Given the description of an element on the screen output the (x, y) to click on. 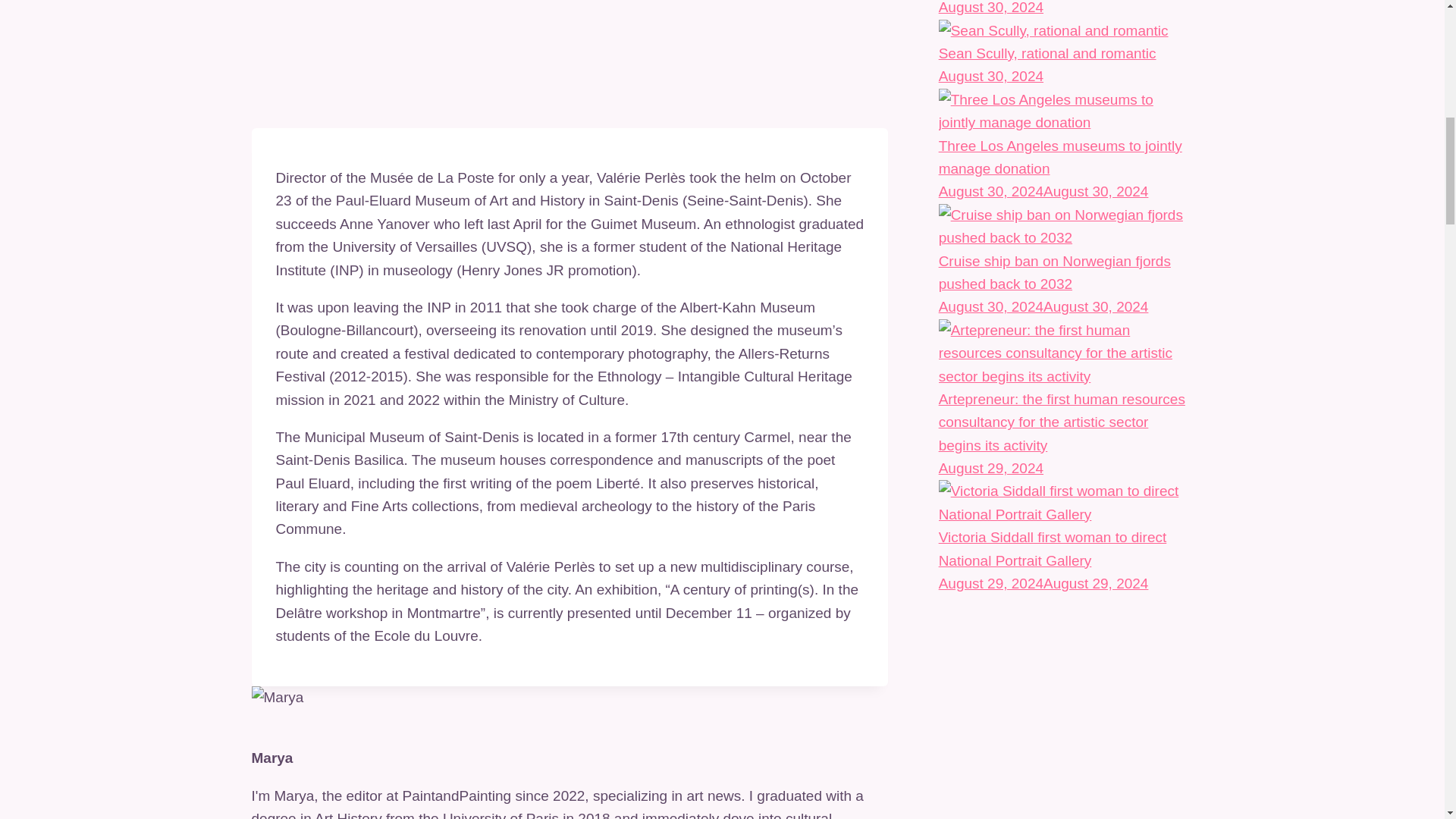
10:33 am (991, 75)
August 30, 2024 (991, 75)
2:36 pm (991, 467)
Cruise ship ban on Norwegian fjords pushed back to 2032 (1066, 226)
Three Los Angeles museums to jointly manage donation (1060, 157)
12:35 pm (991, 7)
Cruise ship ban on Norwegian fjords pushed back to 2032 (1054, 272)
Sean Scully, rational and romantic (1047, 53)
Three Los Angeles museums to jointly manage donation (1066, 111)
August 30, 2024August 30, 2024 (1043, 306)
